Given the description of an element on the screen output the (x, y) to click on. 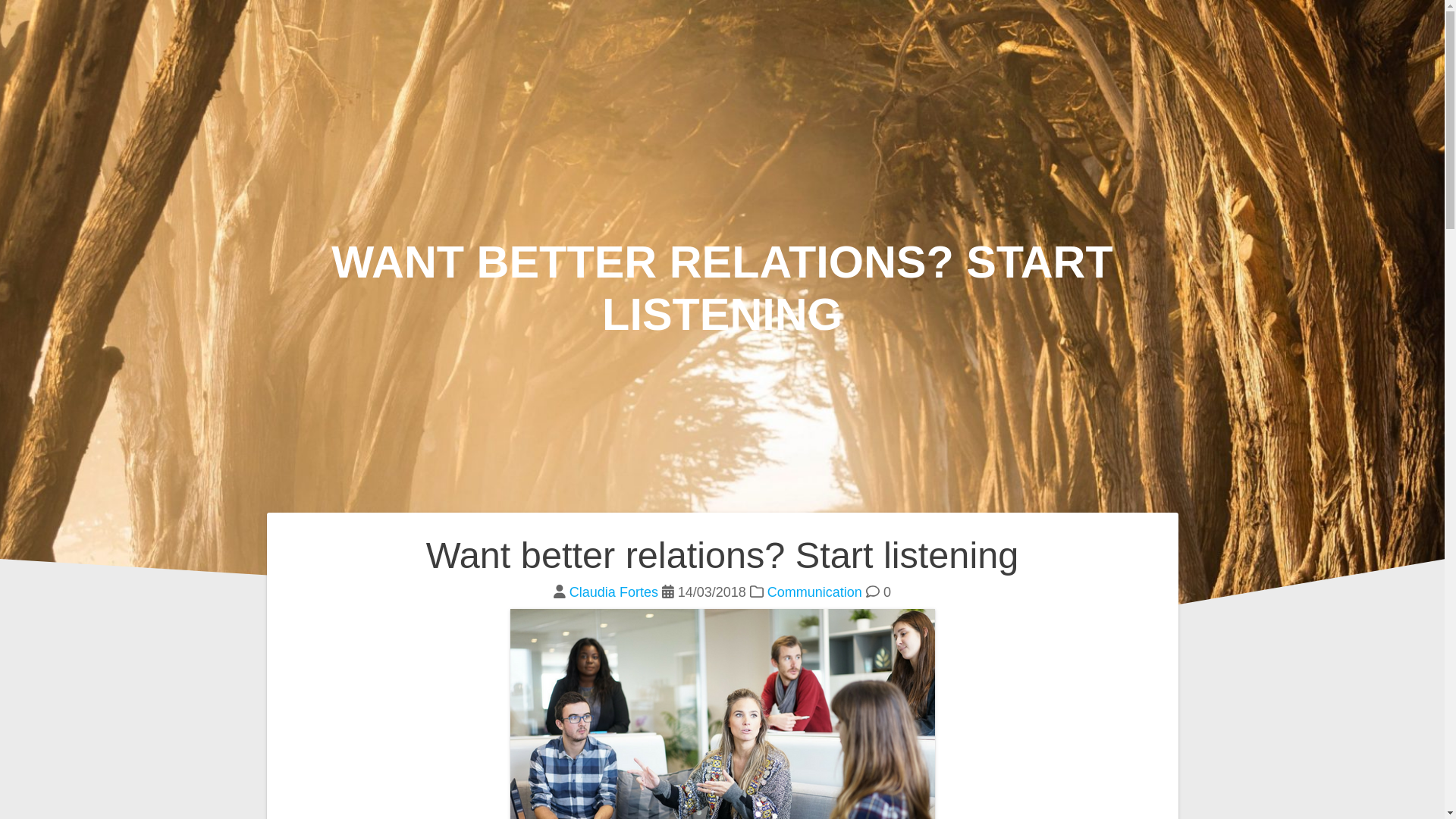
Communication (814, 591)
WORKSHOPS (1208, 31)
WORK WITH ME (1053, 31)
Claudia Fortes (613, 591)
Posts by Claudia Fortes (613, 591)
ABOUT (1327, 31)
Story World (167, 30)
